Given the description of an element on the screen output the (x, y) to click on. 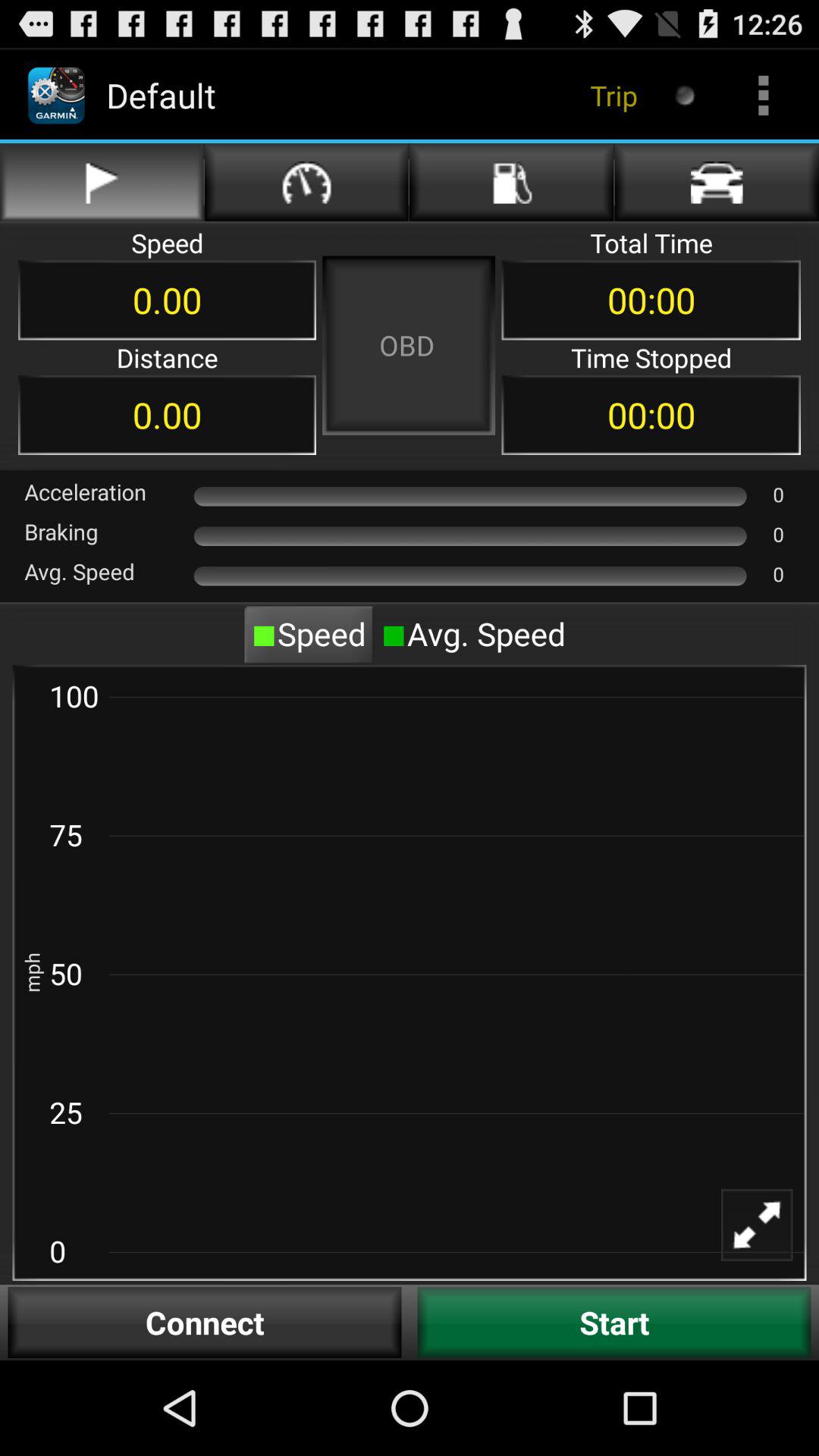
increase graph size (766, 1234)
